Given the description of an element on the screen output the (x, y) to click on. 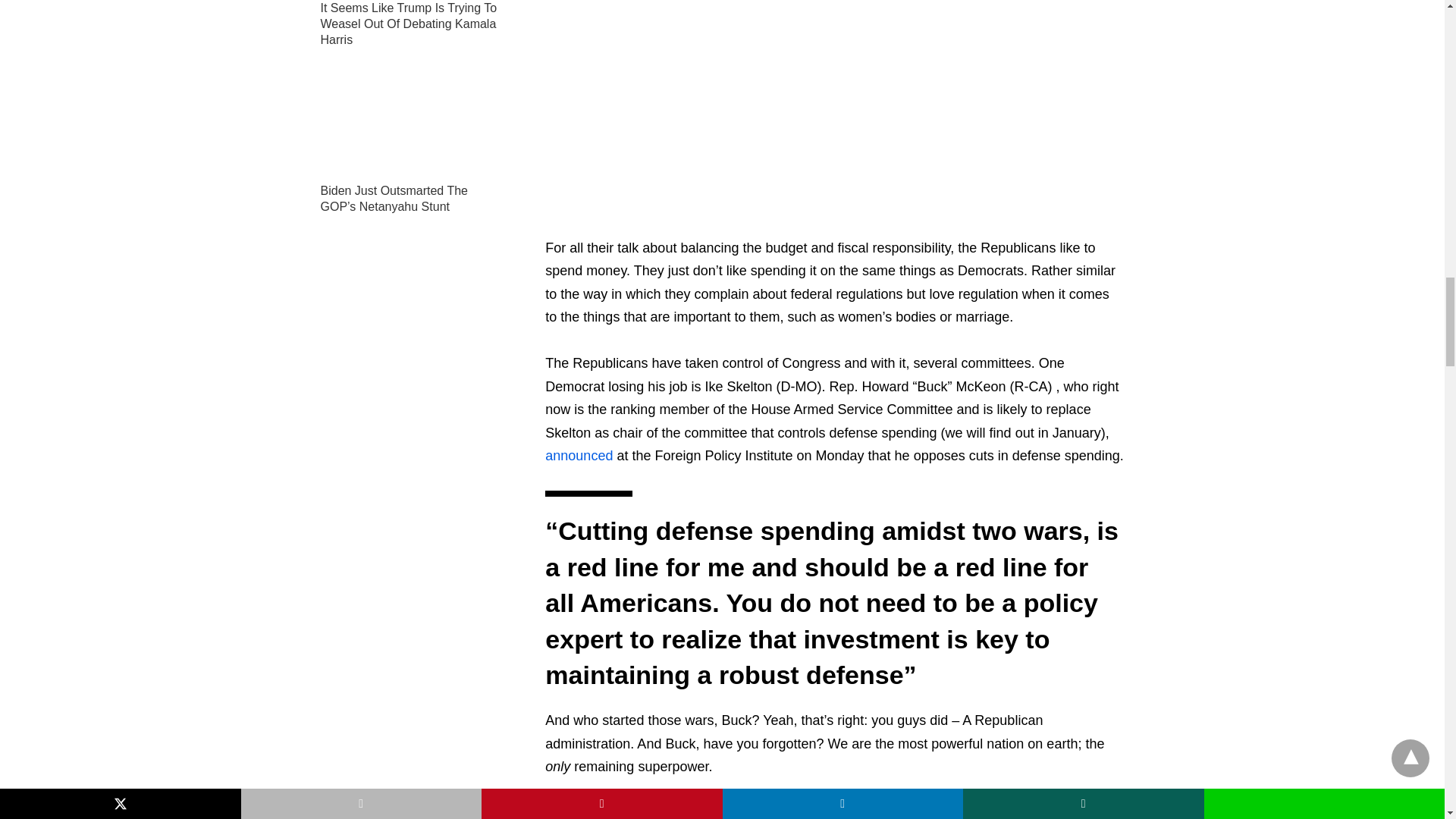
announced (578, 455)
